Given the description of an element on the screen output the (x, y) to click on. 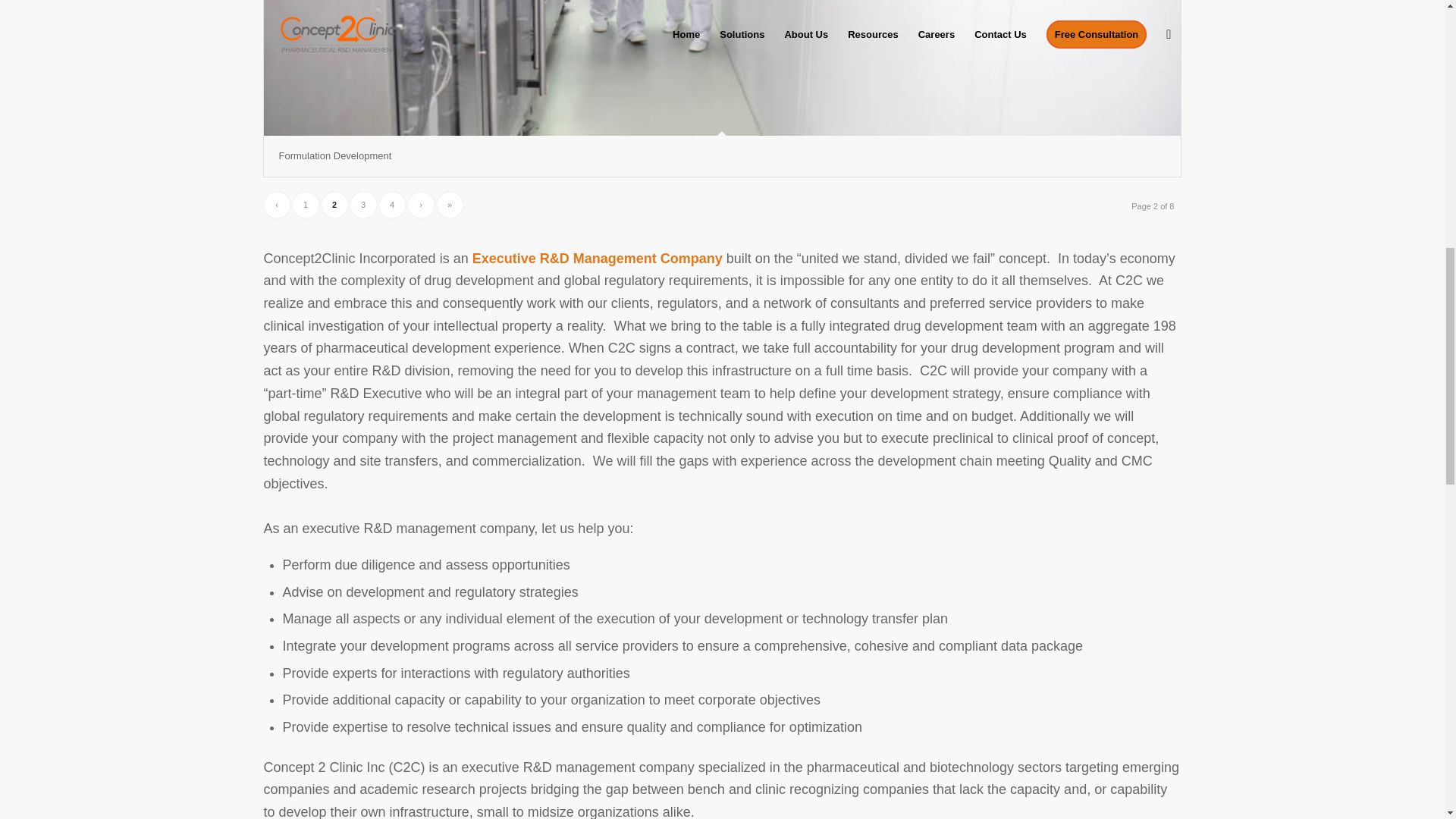
Formulation Development (721, 67)
1 (305, 204)
4 (392, 204)
Formulation Development (335, 155)
Formulation Development (335, 155)
3 (363, 204)
